Given the description of an element on the screen output the (x, y) to click on. 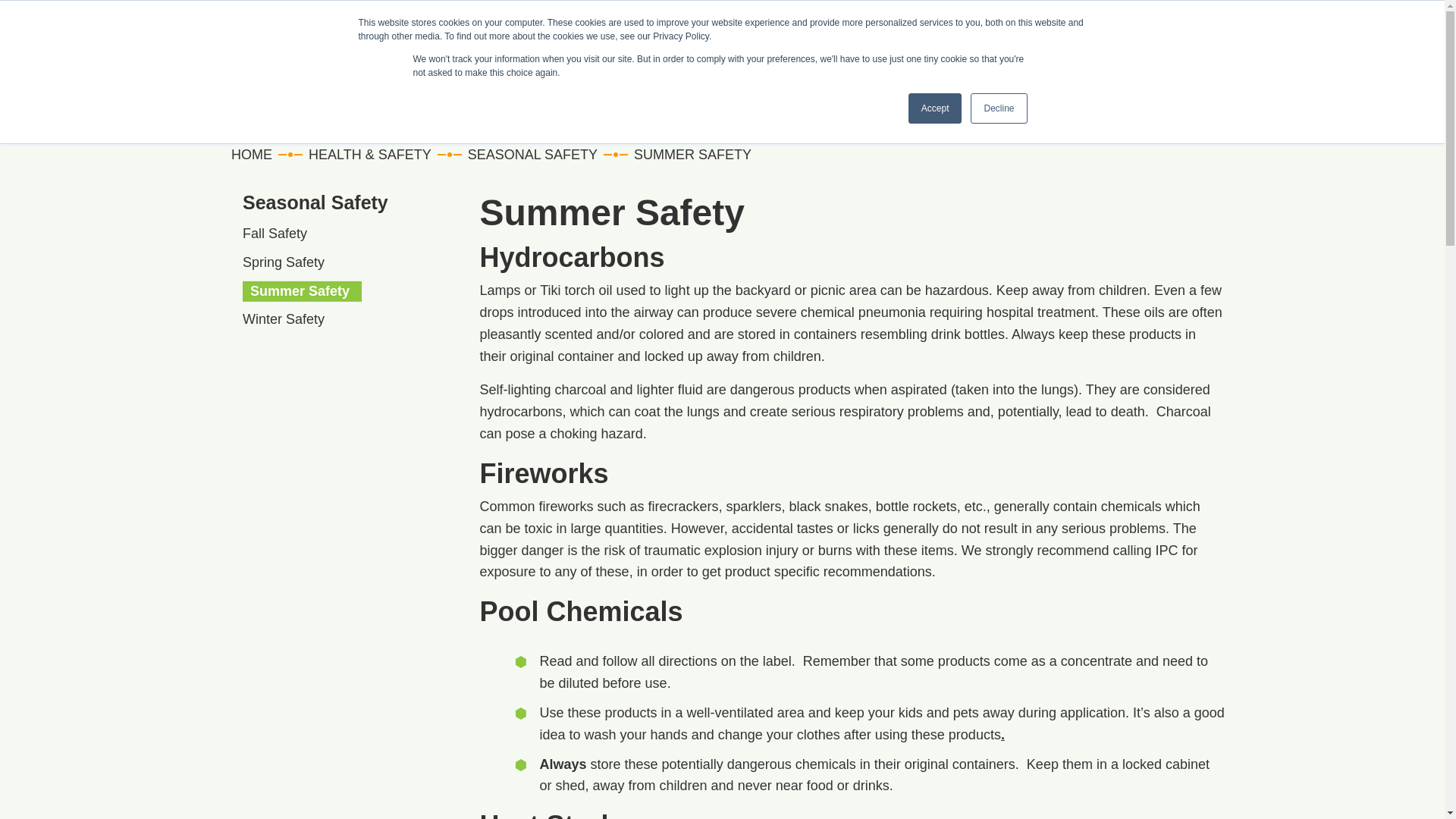
Start Search (1205, 70)
RESOURCES (876, 73)
Winter Safety (289, 319)
1-800-222-1222 (756, 18)
OUR EXPERTS (1097, 73)
EDUCATION (983, 73)
Search (1147, 123)
Start Search (1205, 70)
Contact Us (1106, 18)
About Us (1035, 18)
